Given the description of an element on the screen output the (x, y) to click on. 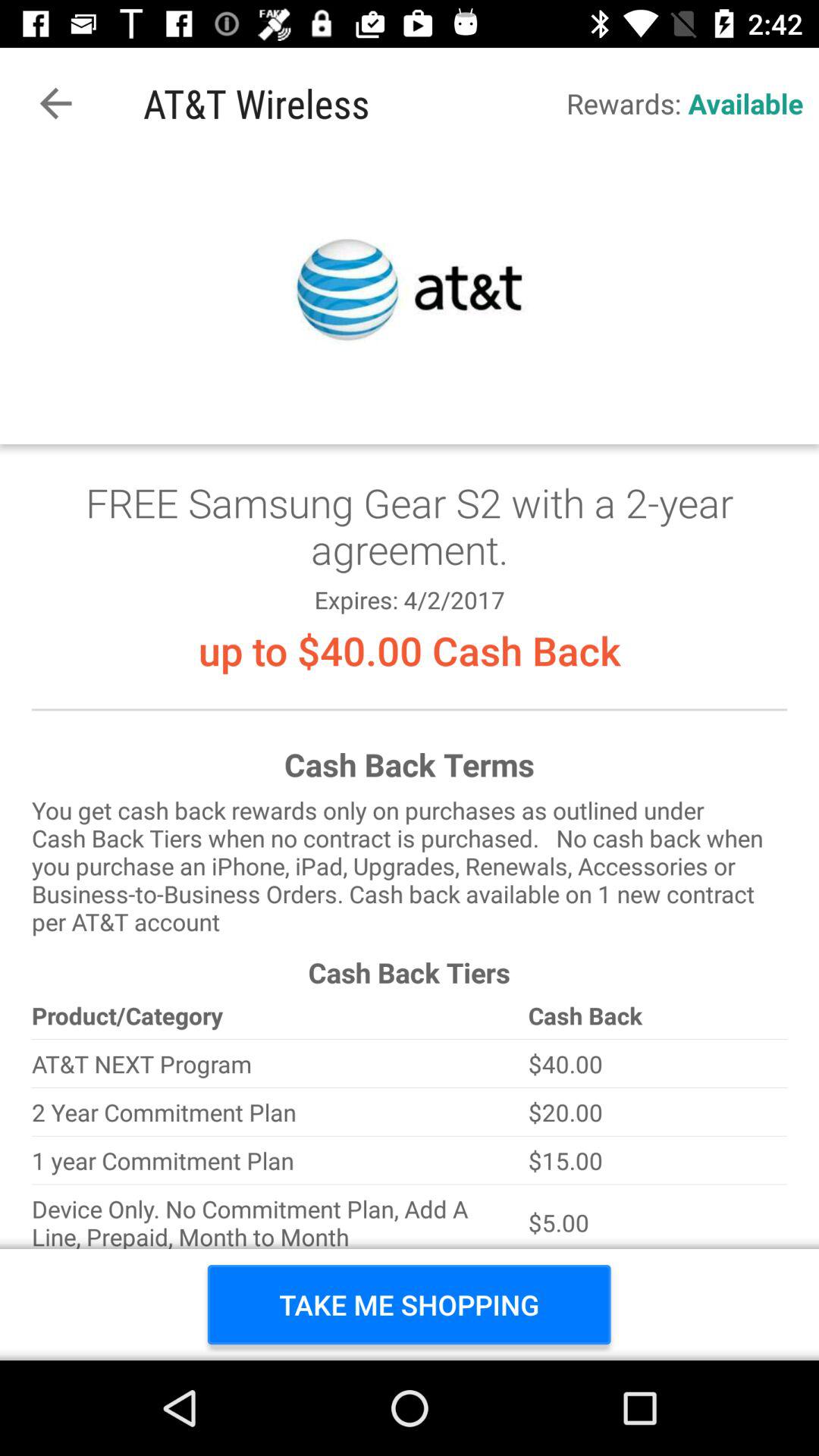
turn off the icon next to the at&t wireless icon (55, 103)
